Given the description of an element on the screen output the (x, y) to click on. 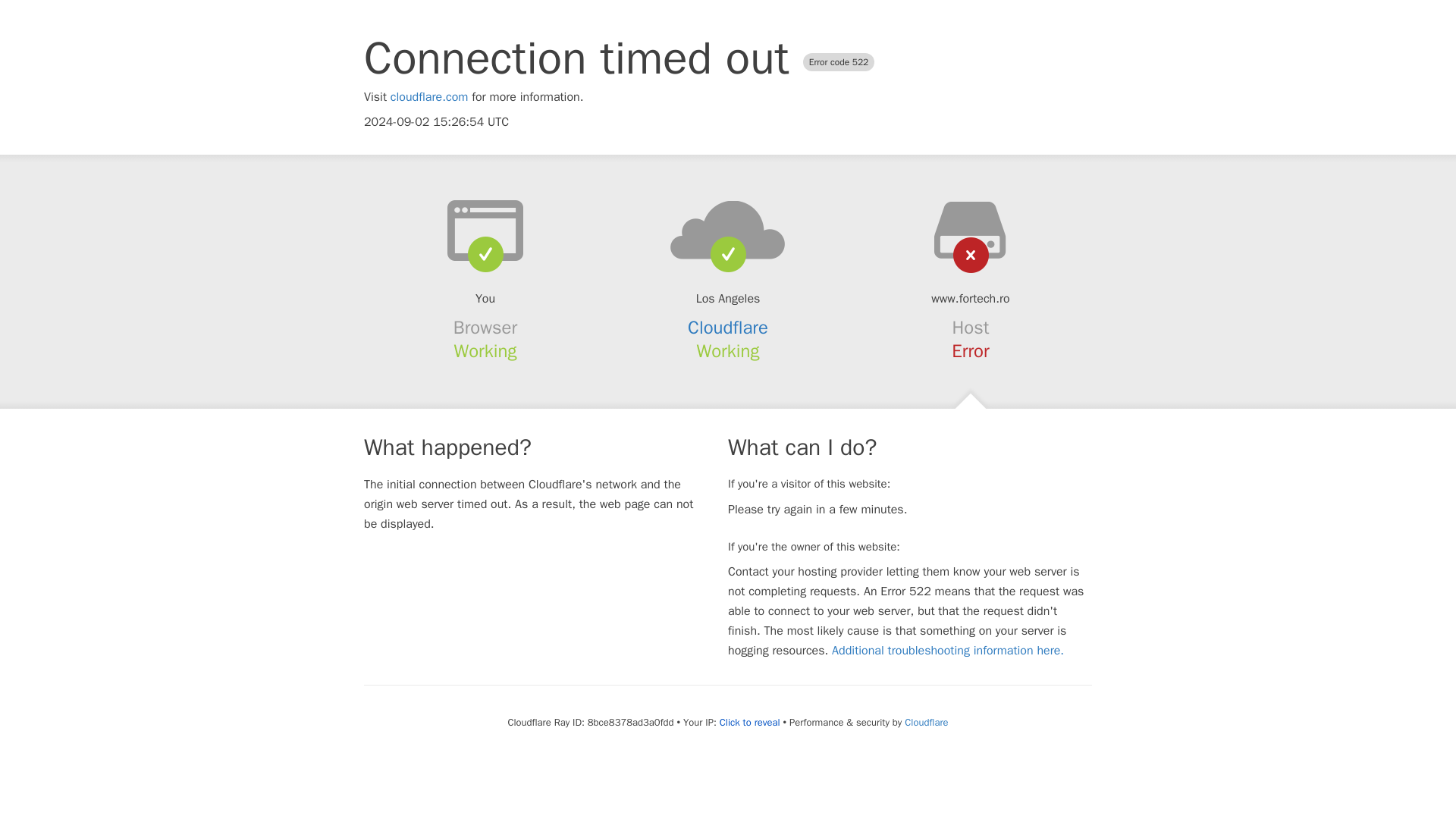
Click to reveal (749, 722)
Additional troubleshooting information here. (947, 650)
cloudflare.com (429, 96)
Cloudflare (925, 721)
Cloudflare (727, 327)
